Given the description of an element on the screen output the (x, y) to click on. 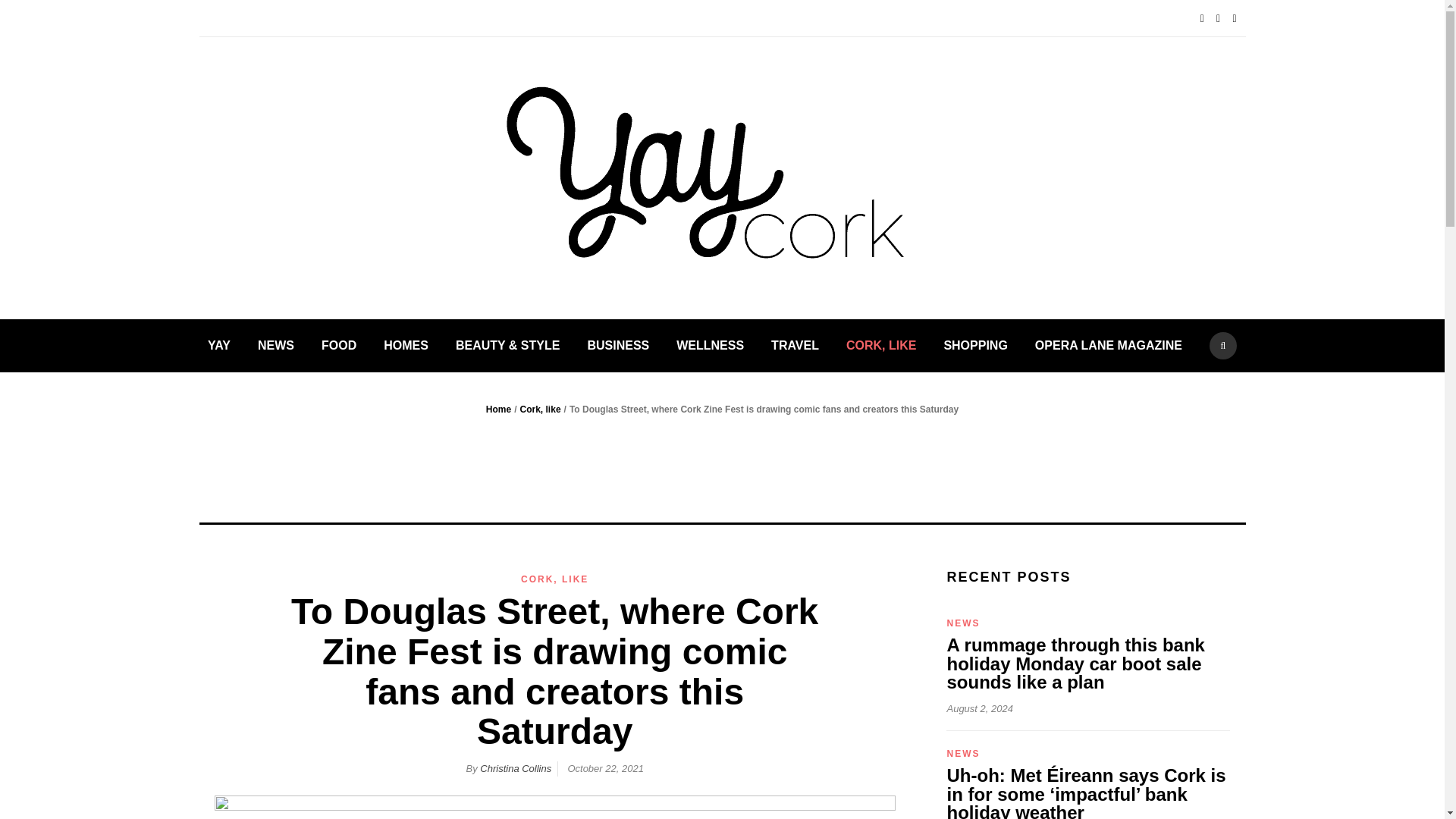
View all posts by Christina Collins (515, 767)
Cork, like (539, 409)
OPERA LANE MAGAZINE (1108, 345)
TRAVEL (794, 345)
CORK, LIKE (880, 345)
Christina Collins (515, 767)
Home (498, 409)
BUSINESS (617, 345)
WELLNESS (710, 345)
SHOPPING (975, 345)
YAY CORK (998, 200)
CORK, LIKE (554, 579)
